Given the description of an element on the screen output the (x, y) to click on. 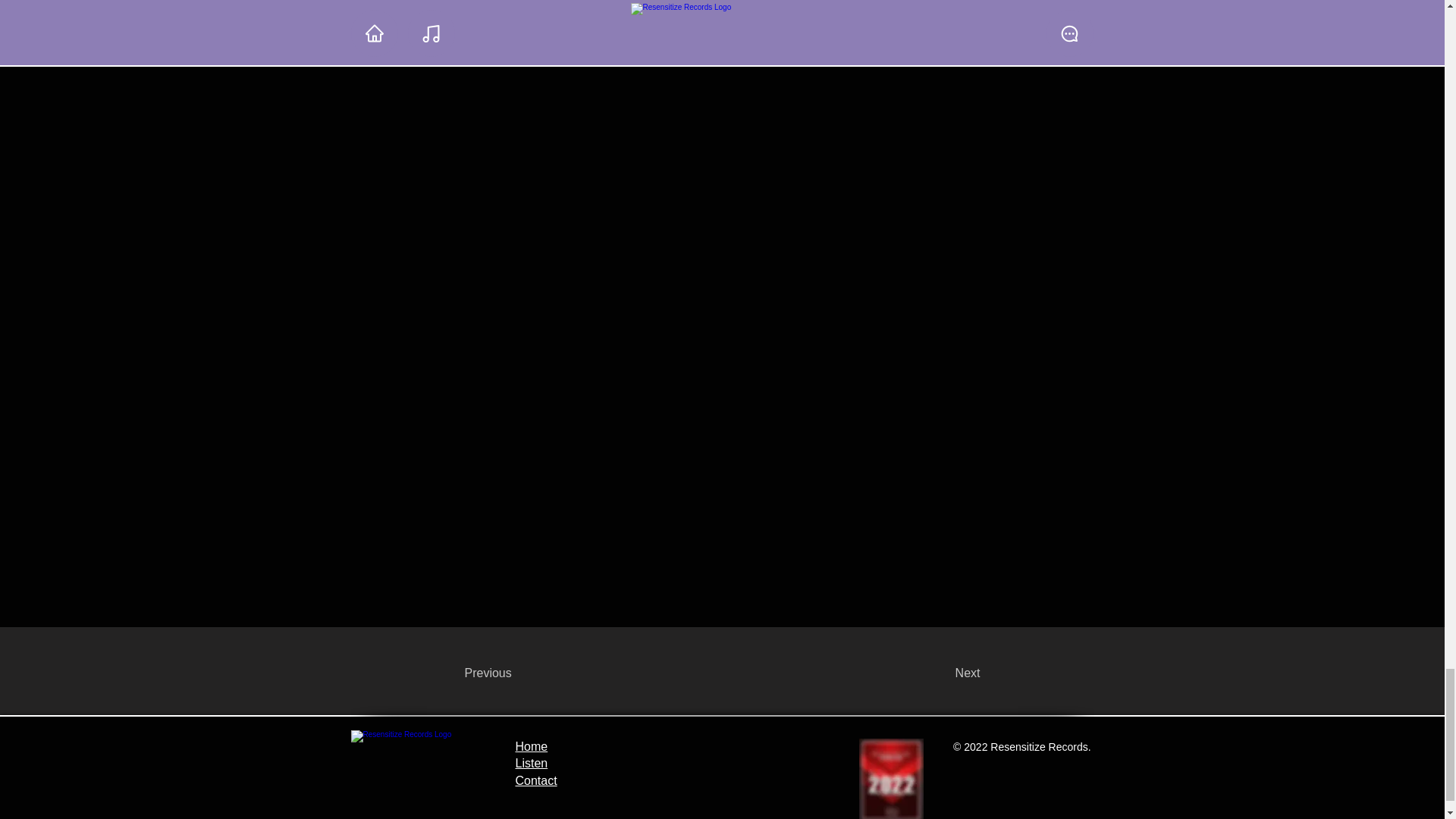
Listen (531, 762)
Next (941, 673)
Contact (536, 780)
Previous (514, 673)
Home (531, 746)
Resensitize Records - Go Hoe (418, 772)
